Given the description of an element on the screen output the (x, y) to click on. 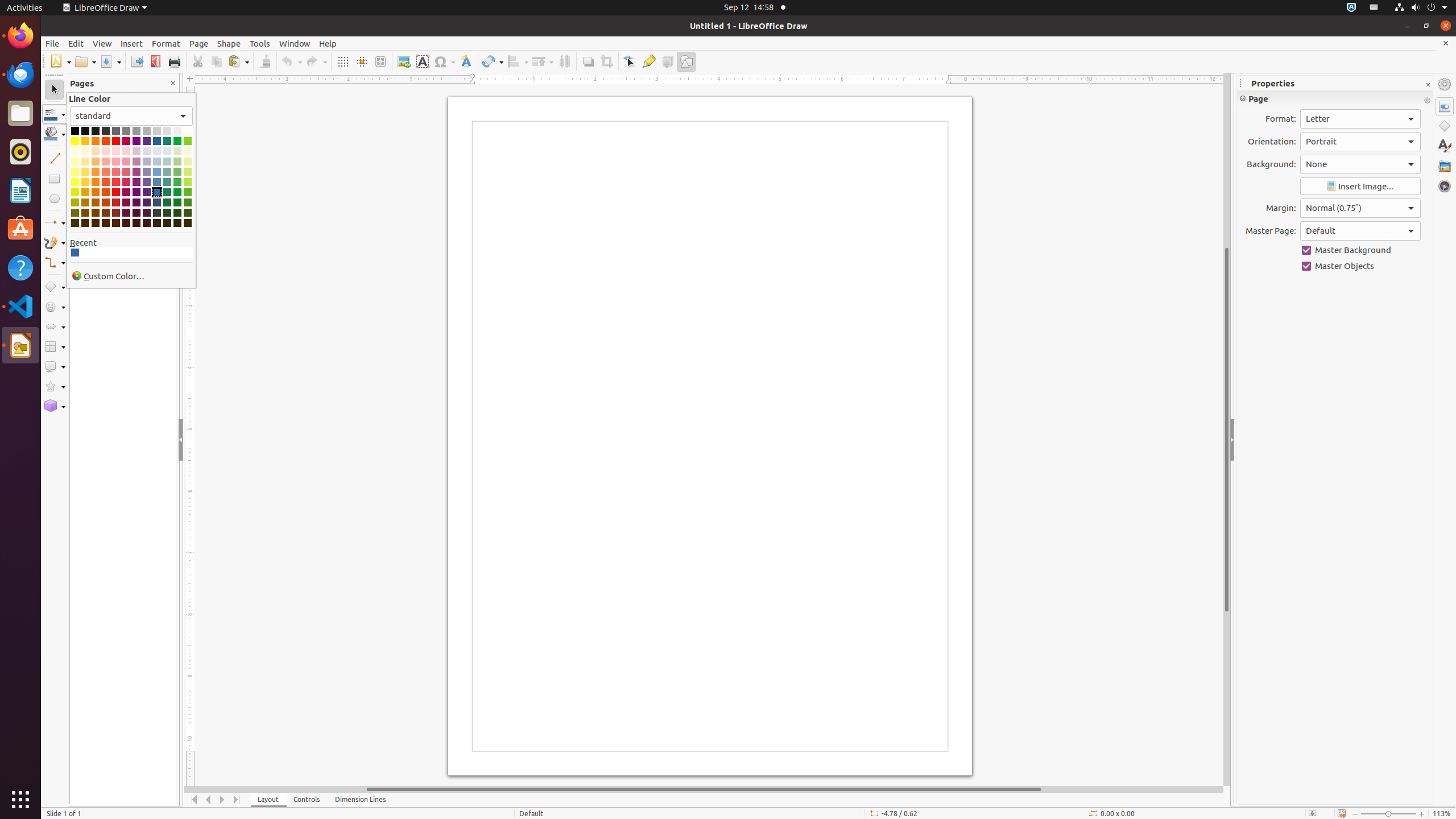
White Element type: list-item (187, 130)
Undo Element type: push-button (290, 61)
Light Yellow 2 Element type: list-item (74, 171)
Dark Gray 4 Element type: list-item (85, 130)
Insert Image Element type: push-button (1360, 186)
